Given the description of an element on the screen output the (x, y) to click on. 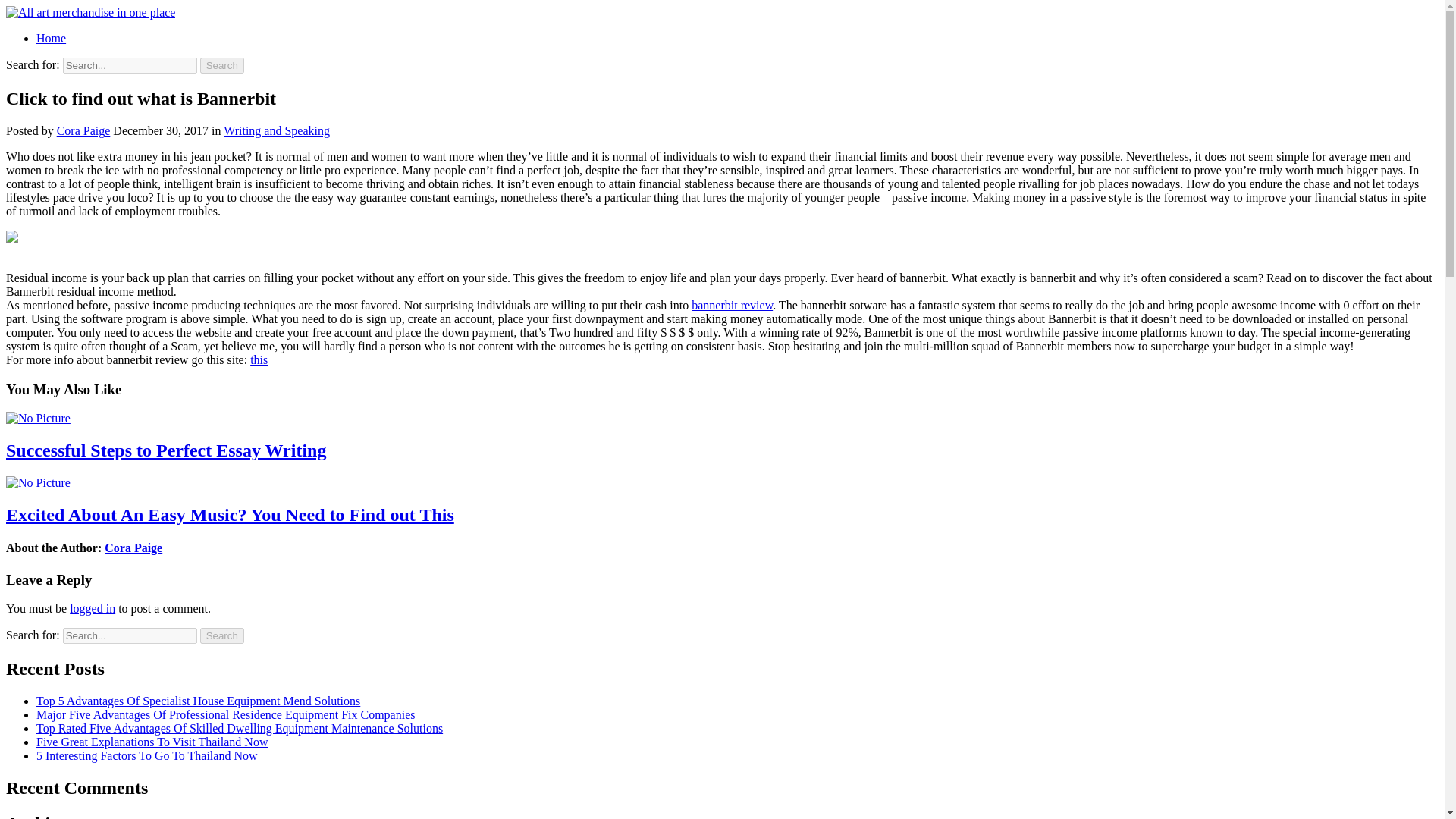
Successful Steps to Perfect Essay Writing (165, 450)
Home (50, 38)
View all posts in Writing and Speaking (277, 130)
Cora Paige (132, 547)
this (258, 359)
Search (222, 65)
Search (222, 635)
Excited About An Easy Music? You Need to Find out This (229, 514)
Writing and Speaking (277, 130)
Posts by Cora Paige (83, 130)
